Given the description of an element on the screen output the (x, y) to click on. 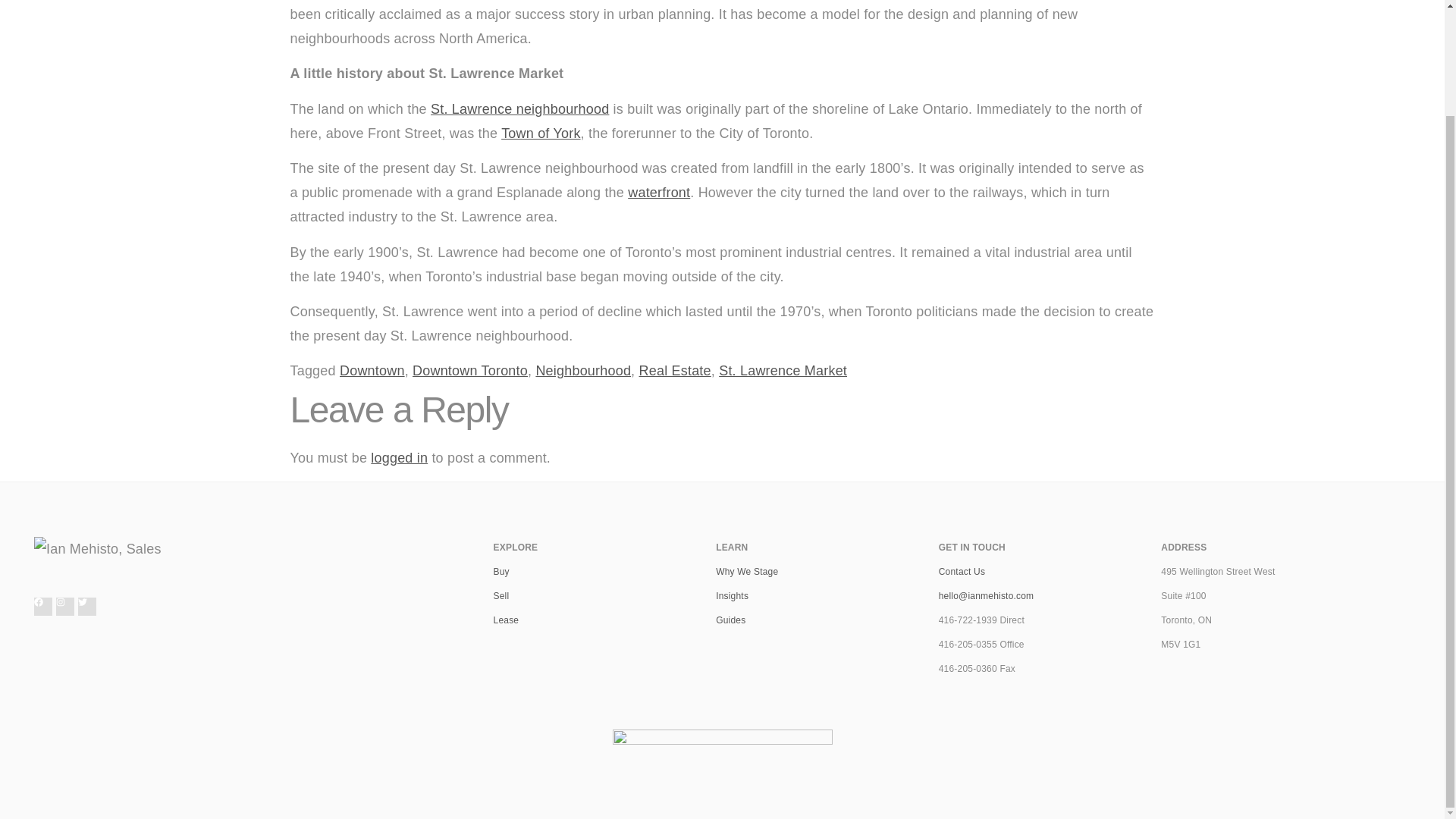
Email Us (986, 595)
Buy Real Estate (730, 620)
Insights (732, 595)
Sell (501, 595)
Why We Stage (746, 571)
Neighbourhood (582, 370)
Real Estate Insights (732, 595)
Guides (730, 620)
waterfront (658, 192)
Buy (501, 571)
